Given the description of an element on the screen output the (x, y) to click on. 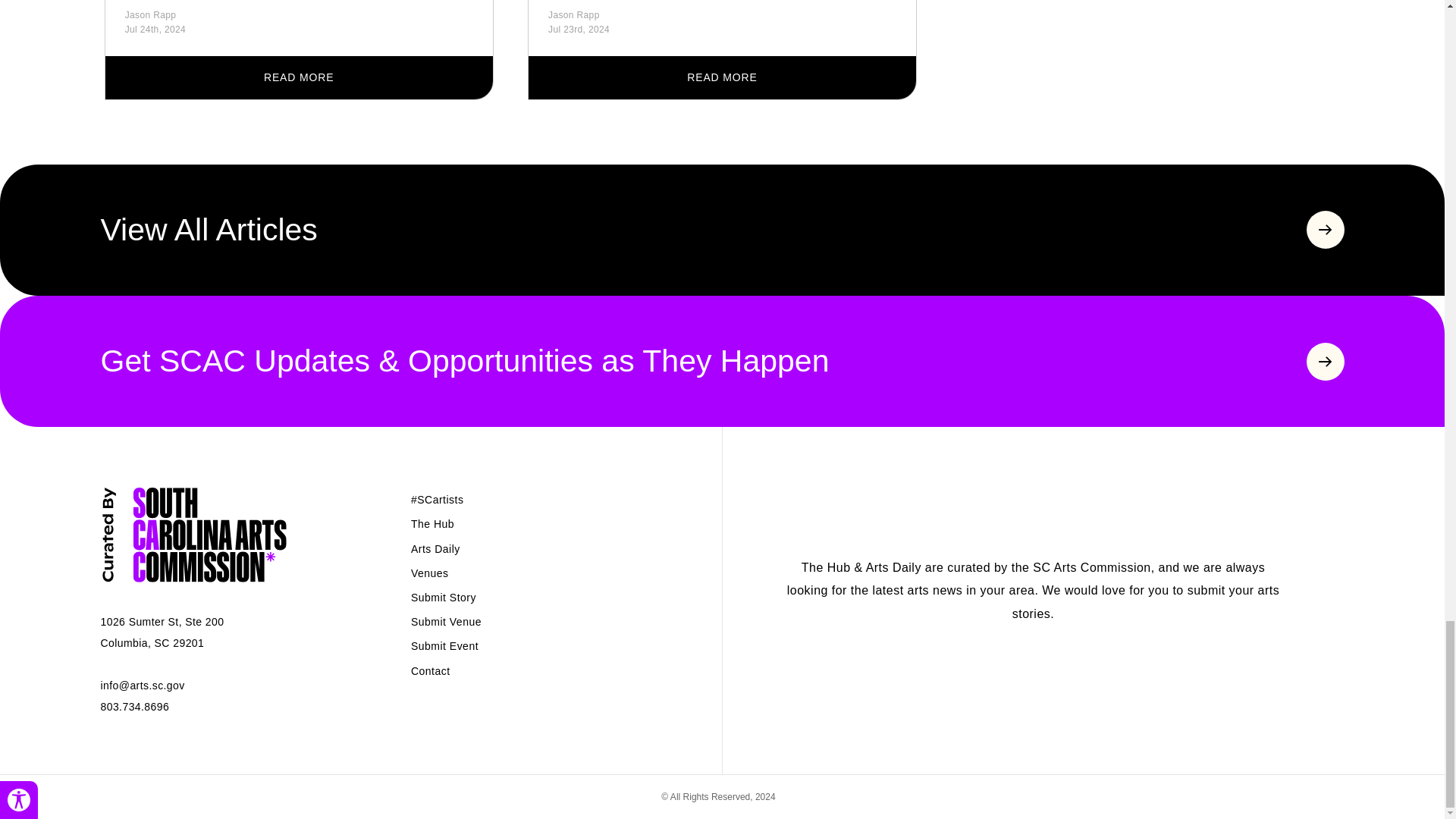
The Hub (432, 523)
Submit Story (443, 597)
Venues (429, 573)
View All Articles (721, 229)
Arts Daily (435, 548)
